Given the description of an element on the screen output the (x, y) to click on. 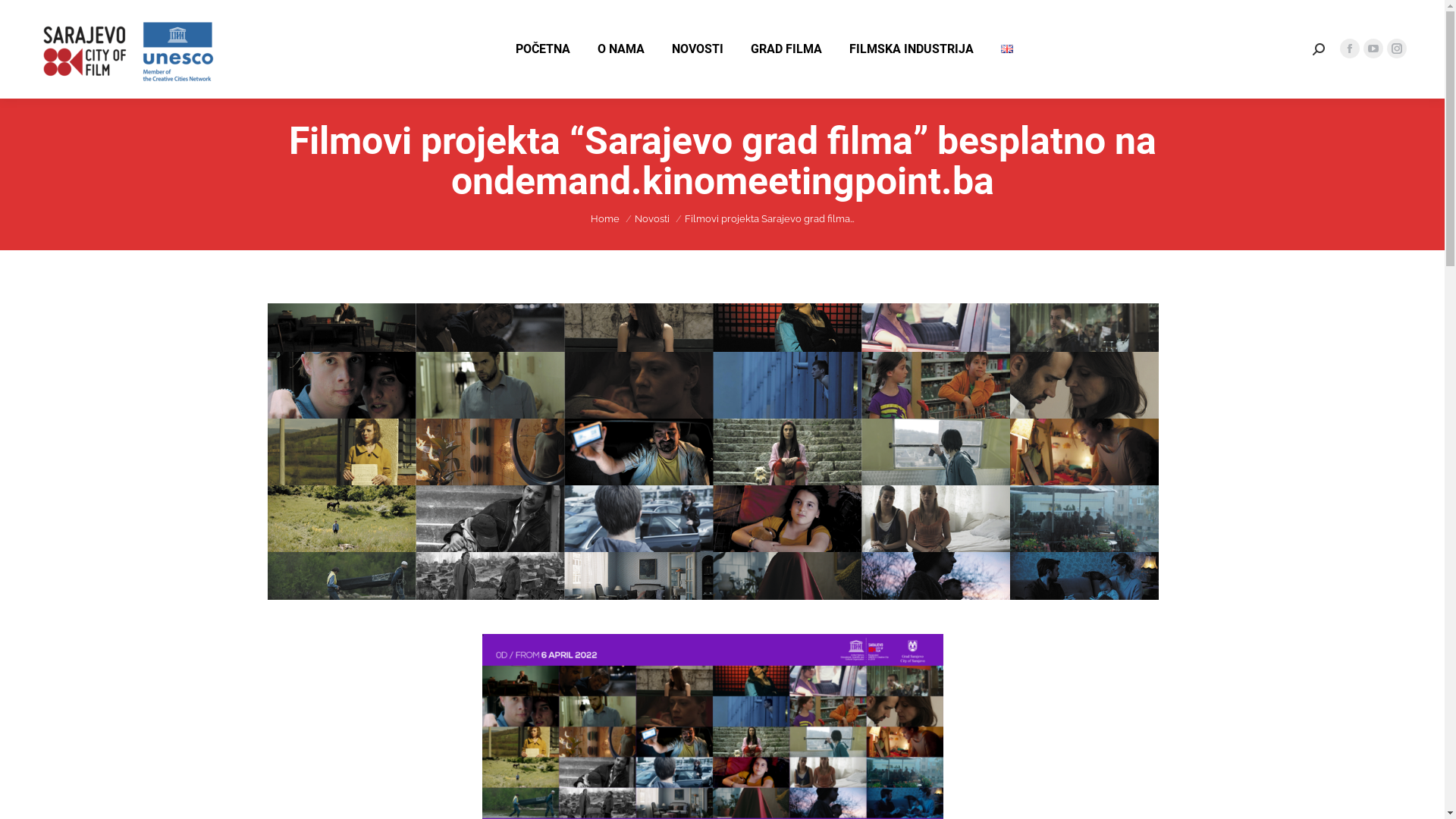
NOVOSTI Element type: text (697, 48)
O NAMA Element type: text (620, 48)
Instagram page opens in new window Element type: text (1396, 47)
Go! Element type: text (23, 16)
Facebook page opens in new window Element type: text (1349, 47)
FILMSKA INDUSTRIJA Element type: text (911, 48)
Home Element type: text (603, 217)
GRAD FILMA Element type: text (786, 48)
YouTube page opens in new window Element type: text (1373, 47)
Novosti Element type: text (650, 217)
